Given the description of an element on the screen output the (x, y) to click on. 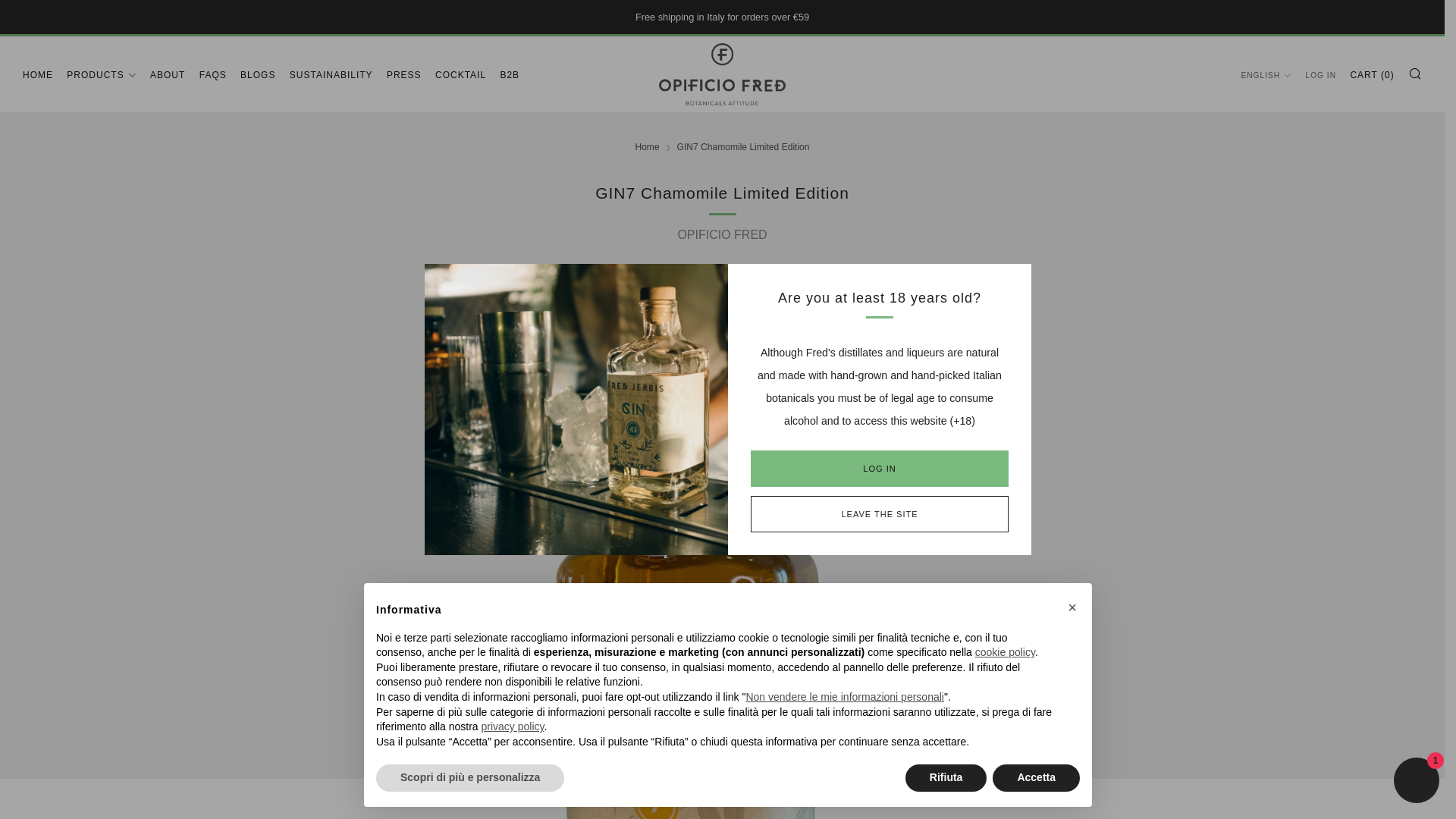
LOG IN (880, 468)
LEAVE THE SITE (880, 514)
OPIFICIO FRED (722, 234)
Home (646, 146)
